Given the description of an element on the screen output the (x, y) to click on. 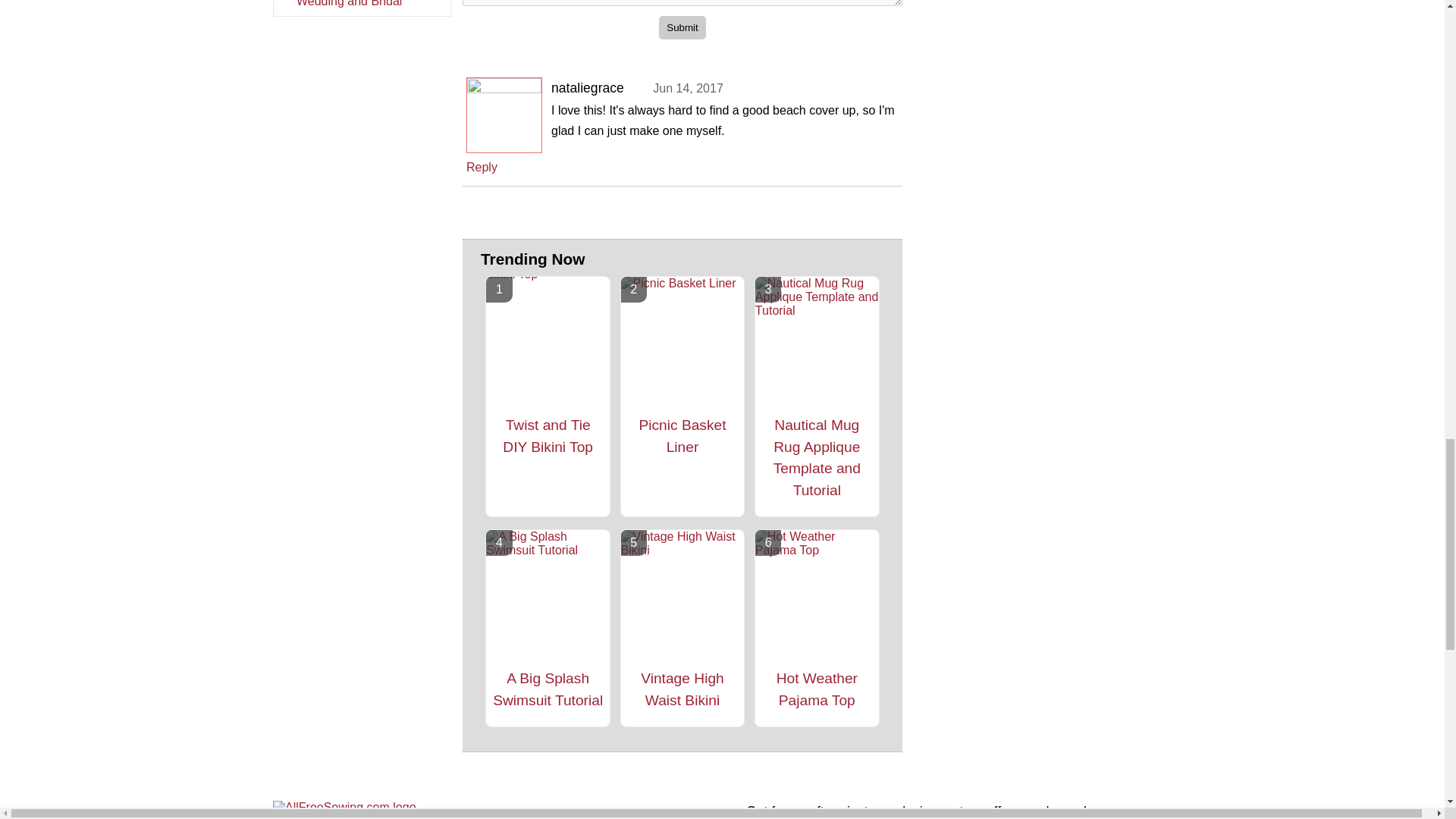
Submit (681, 27)
